Given the description of an element on the screen output the (x, y) to click on. 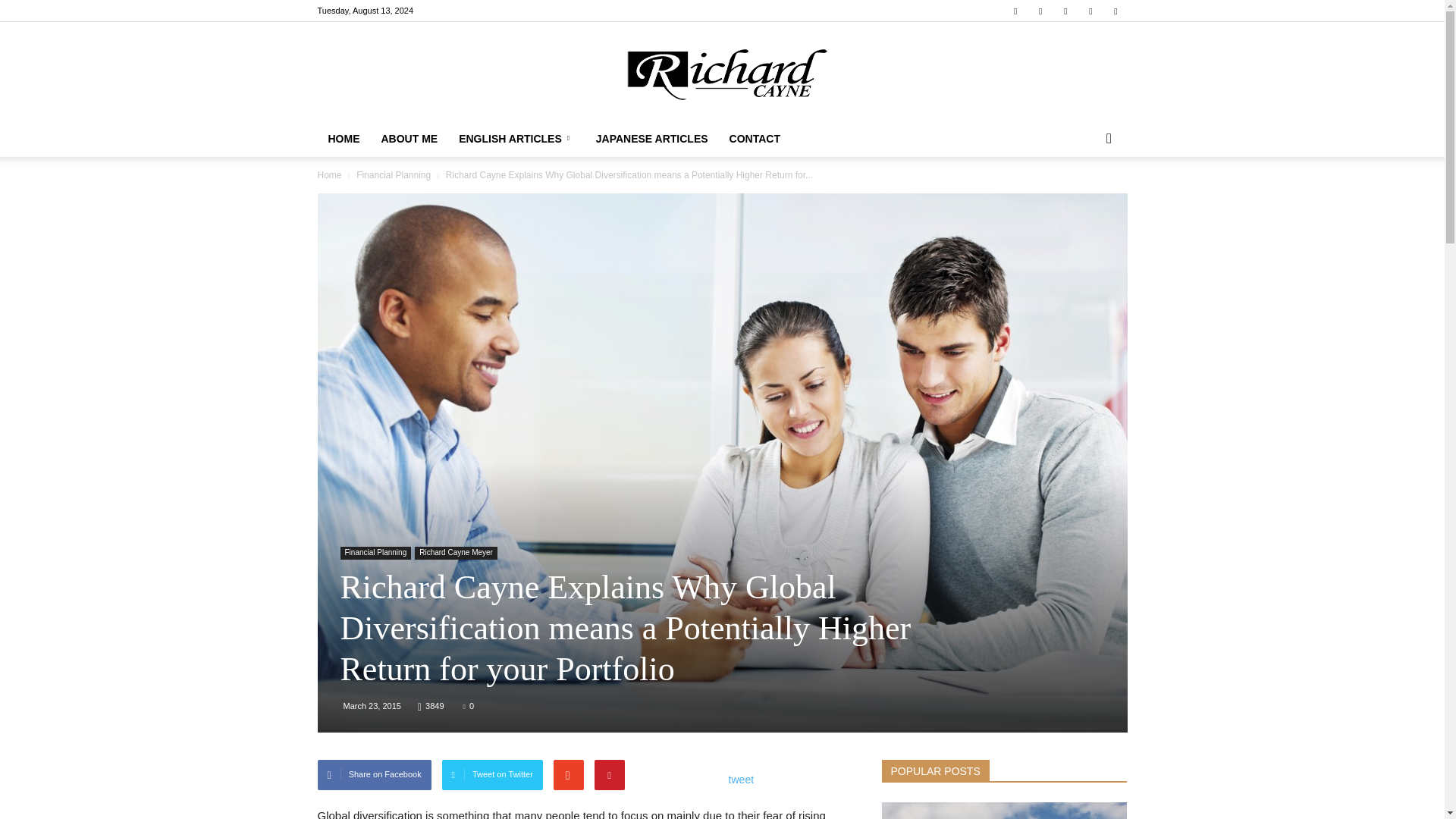
View all posts in Financial Planning (393, 174)
Financial Planning (393, 174)
Facebook (1015, 10)
Twitter (1114, 10)
Search (1085, 199)
Home (328, 174)
HOME (343, 138)
ABOUT ME (408, 138)
ENGLISH ARTICLES (516, 138)
Pinterest (1065, 10)
